Given the description of an element on the screen output the (x, y) to click on. 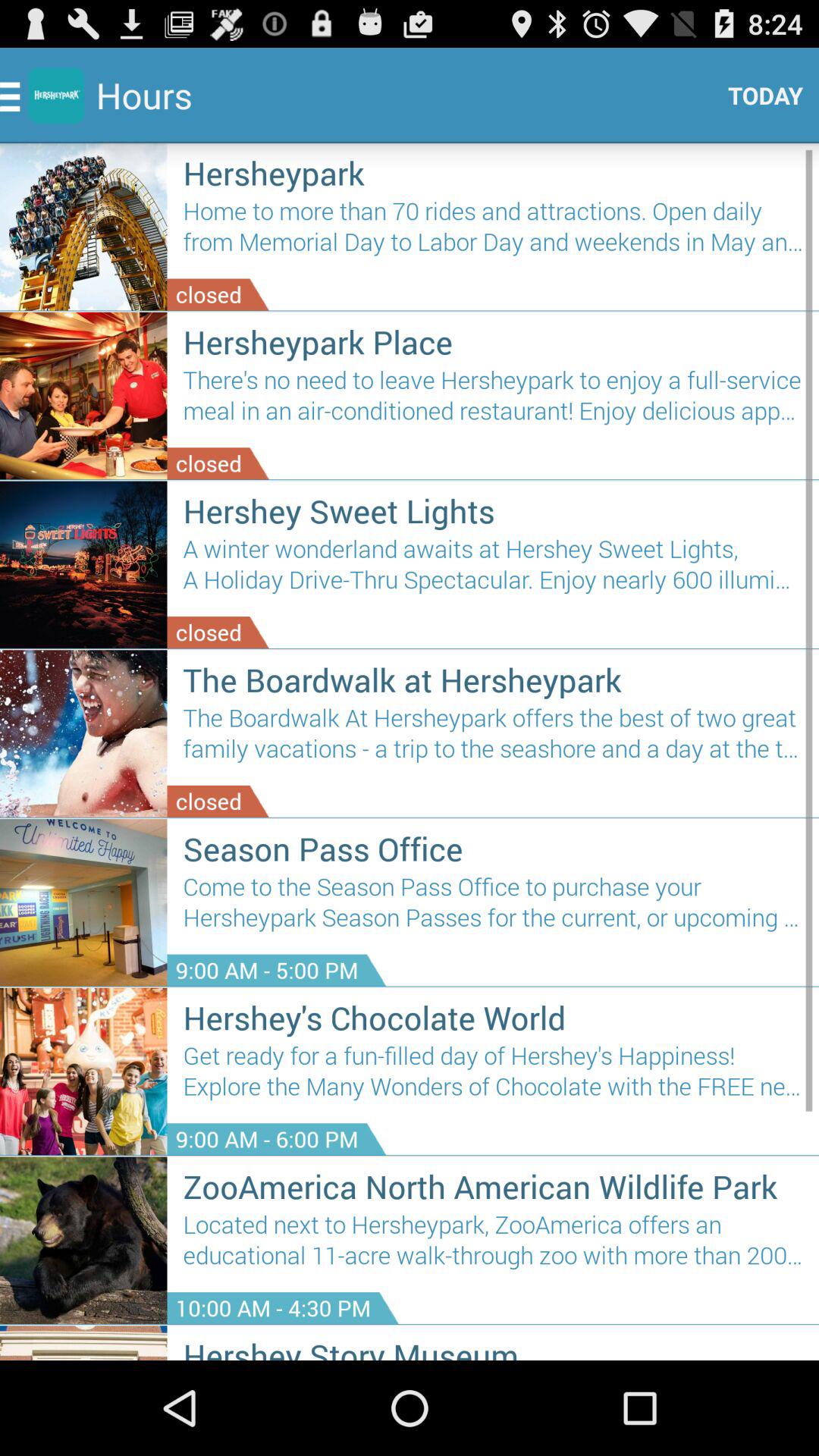
turn off icon above the 10 00 am (493, 1246)
